Given the description of an element on the screen output the (x, y) to click on. 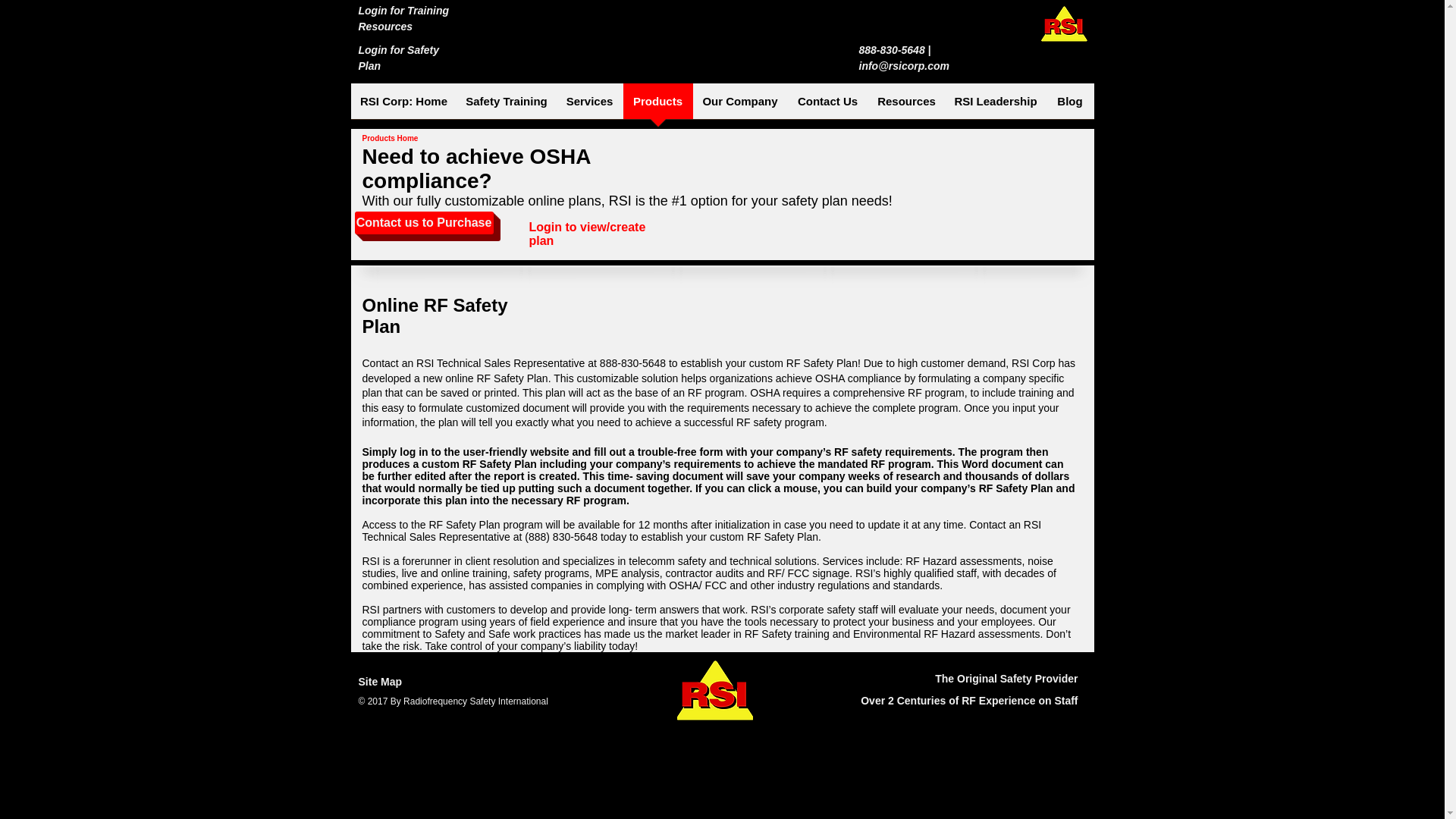
Contact Us (827, 105)
Login for Safety Plan (398, 56)
Products Home (390, 138)
Services (589, 105)
Resources (905, 105)
Blog (1070, 105)
Login for Training Resources (403, 17)
Our Company (740, 105)
RSI Corp: Home (403, 105)
Safety Training (506, 105)
